Given the description of an element on the screen output the (x, y) to click on. 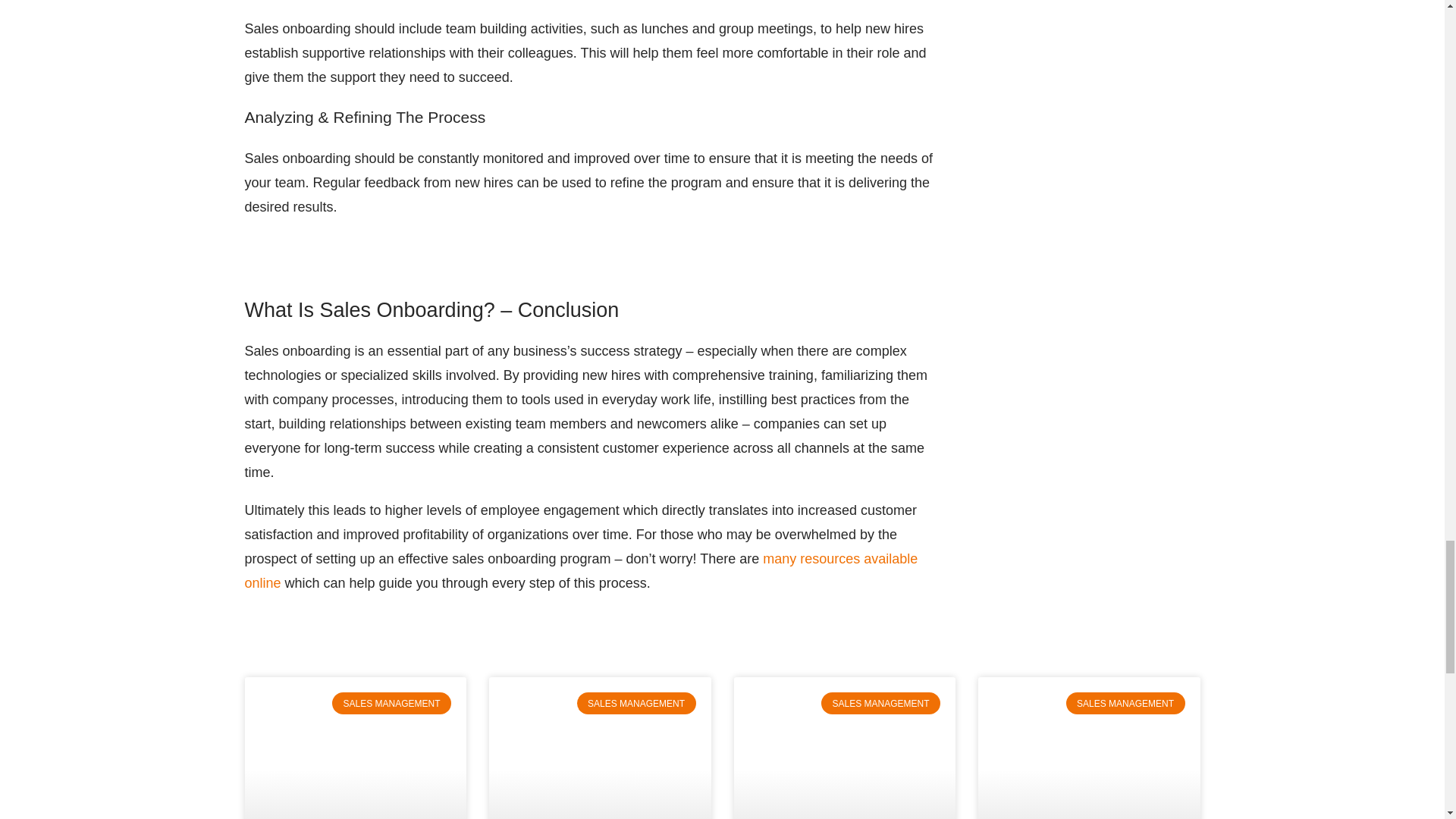
many resources available online (580, 570)
